Given the description of an element on the screen output the (x, y) to click on. 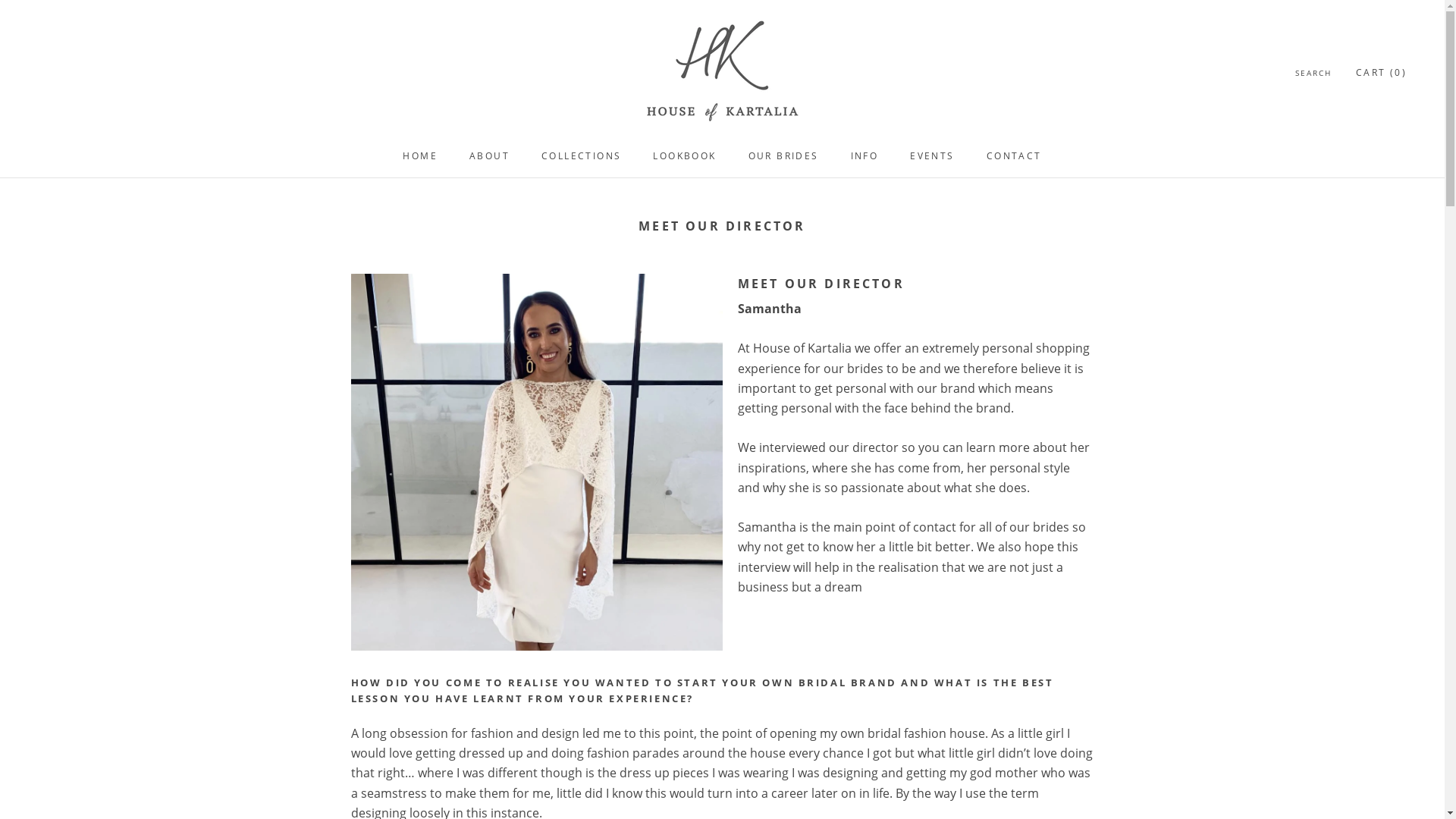
HOME
HOME Element type: text (419, 155)
COLLECTIONS Element type: text (581, 155)
EVENTS Element type: text (931, 155)
OUR BRIDES
OUR BRIDES Element type: text (783, 155)
CONTACT
CONTACT Element type: text (1013, 155)
SEARCH Element type: text (1313, 72)
INFO Element type: text (864, 155)
CART (0) Element type: text (1380, 71)
LOOKBOOK
LOOKBOOK Element type: text (683, 155)
ABOUT
ABOUT Element type: text (489, 155)
